Given the description of an element on the screen output the (x, y) to click on. 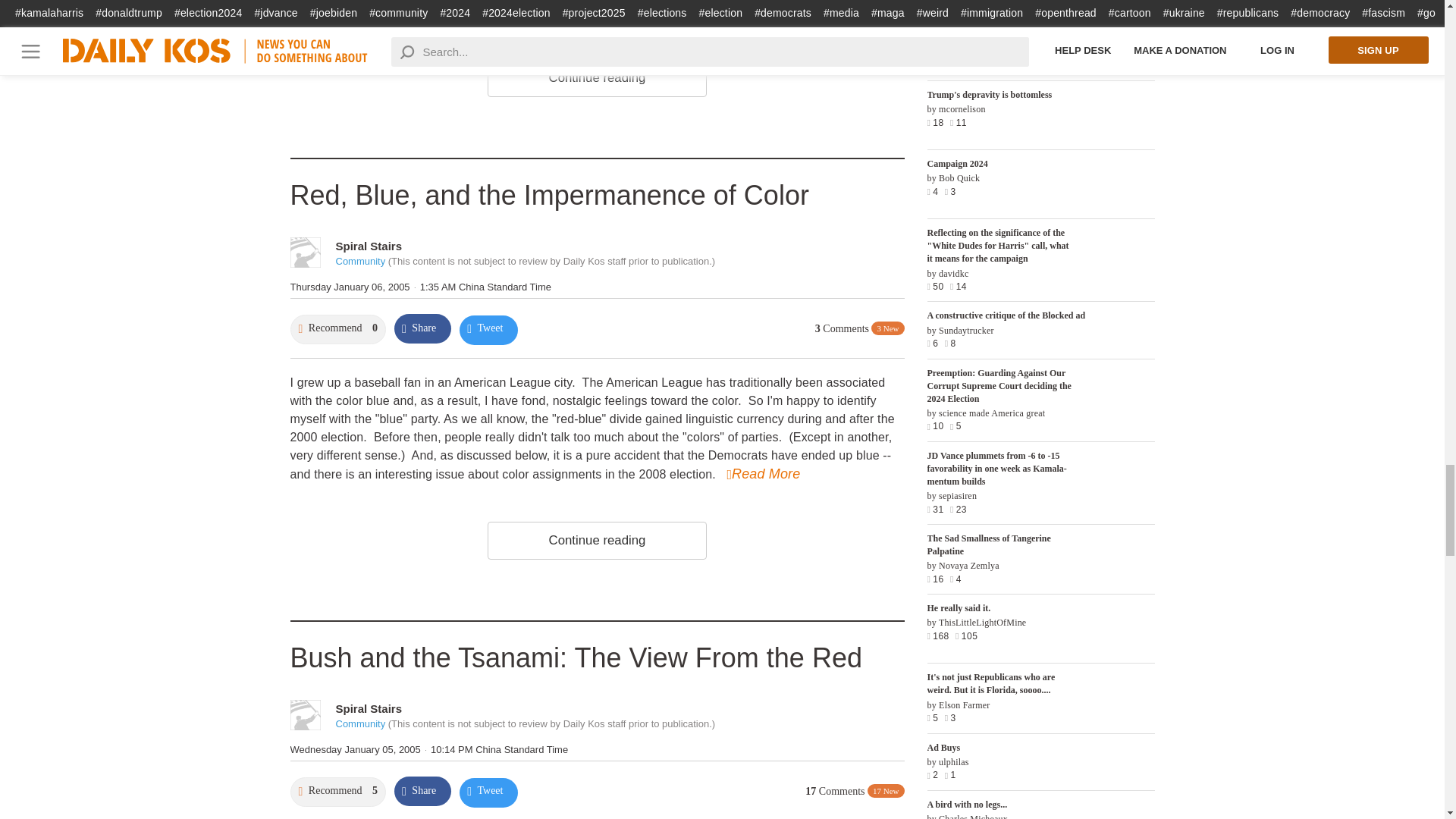
3 Comments 3 New (859, 328)
17 Comments 17 New (854, 791)
